Given the description of an element on the screen output the (x, y) to click on. 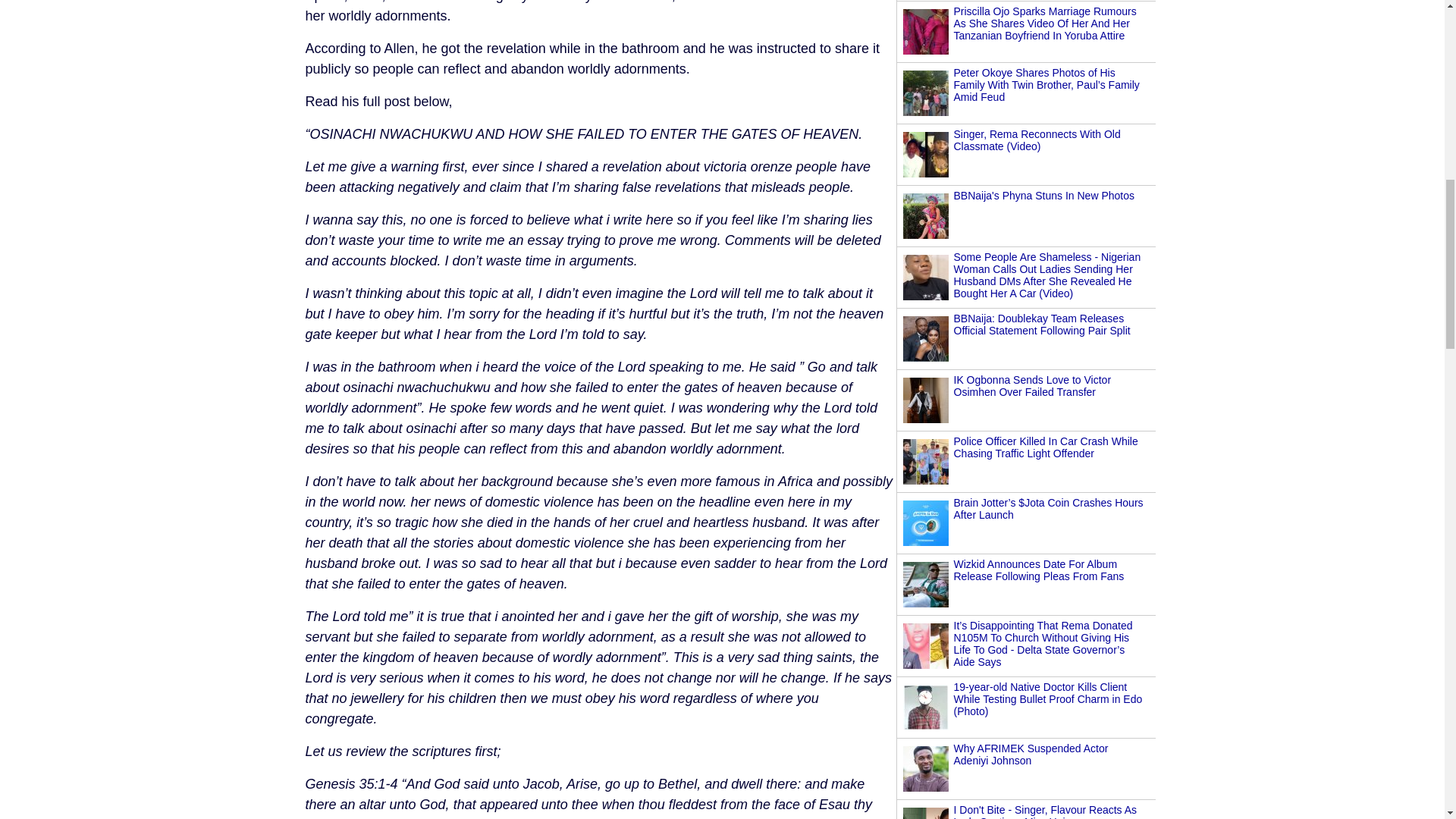
BBNaija's Phyna Stuns In New Photos (1043, 195)
IK Ogbonna Sends Love to Victor Osimhen Over Failed Transfer (1032, 385)
